Given the description of an element on the screen output the (x, y) to click on. 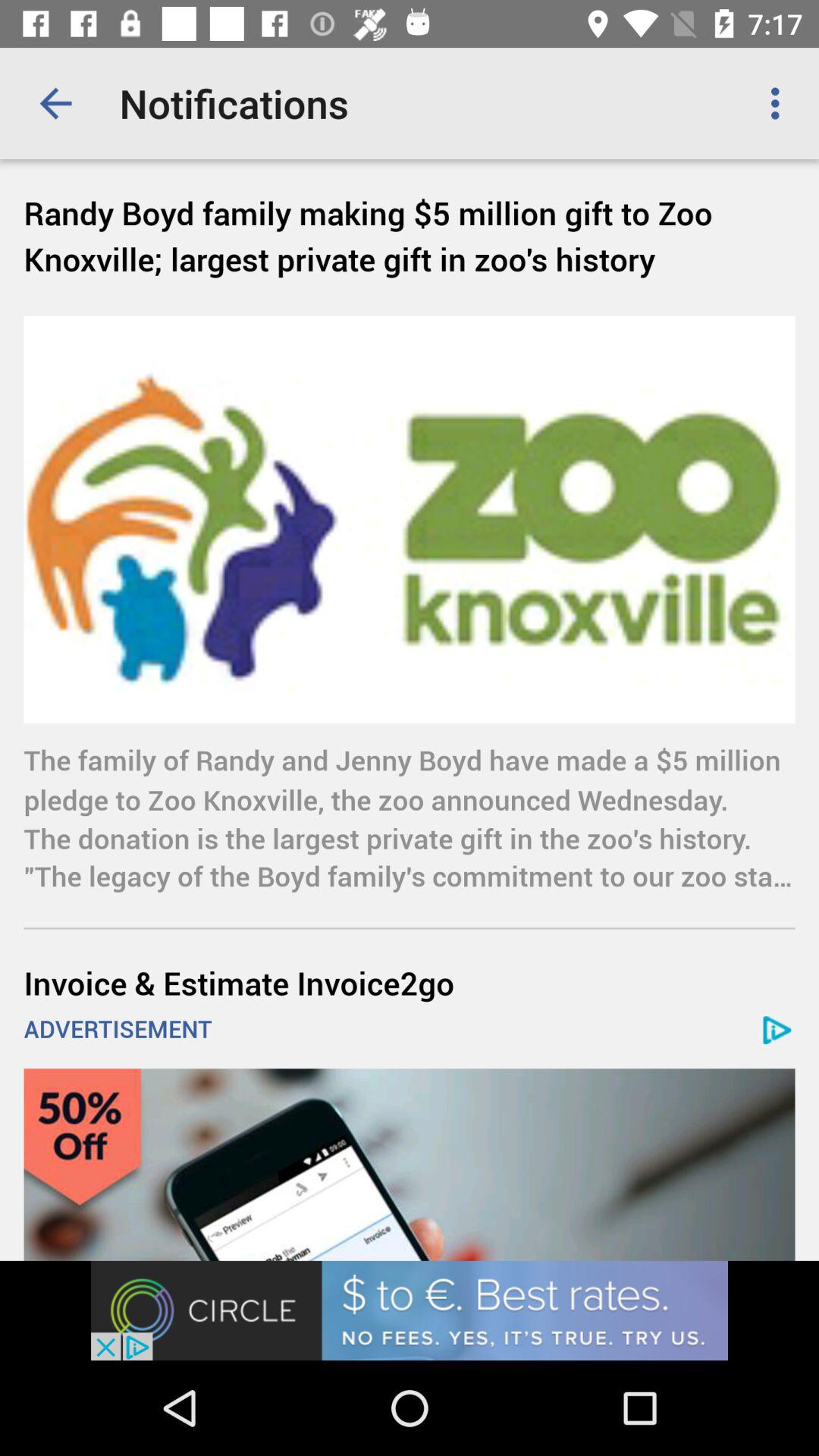
sponsored content (409, 1164)
